Given the description of an element on the screen output the (x, y) to click on. 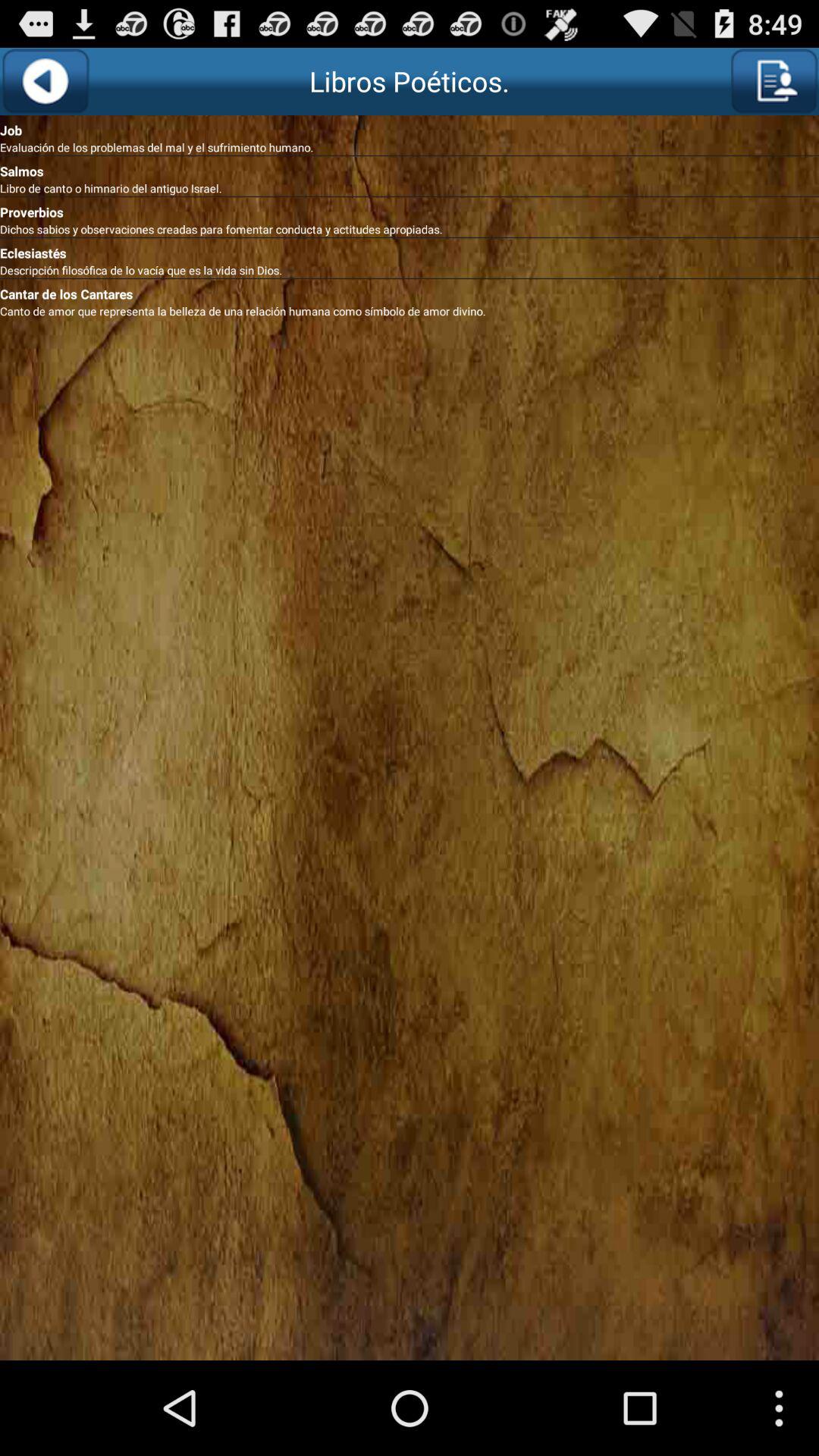
tap the item below the proverbios app (409, 229)
